Given the description of an element on the screen output the (x, y) to click on. 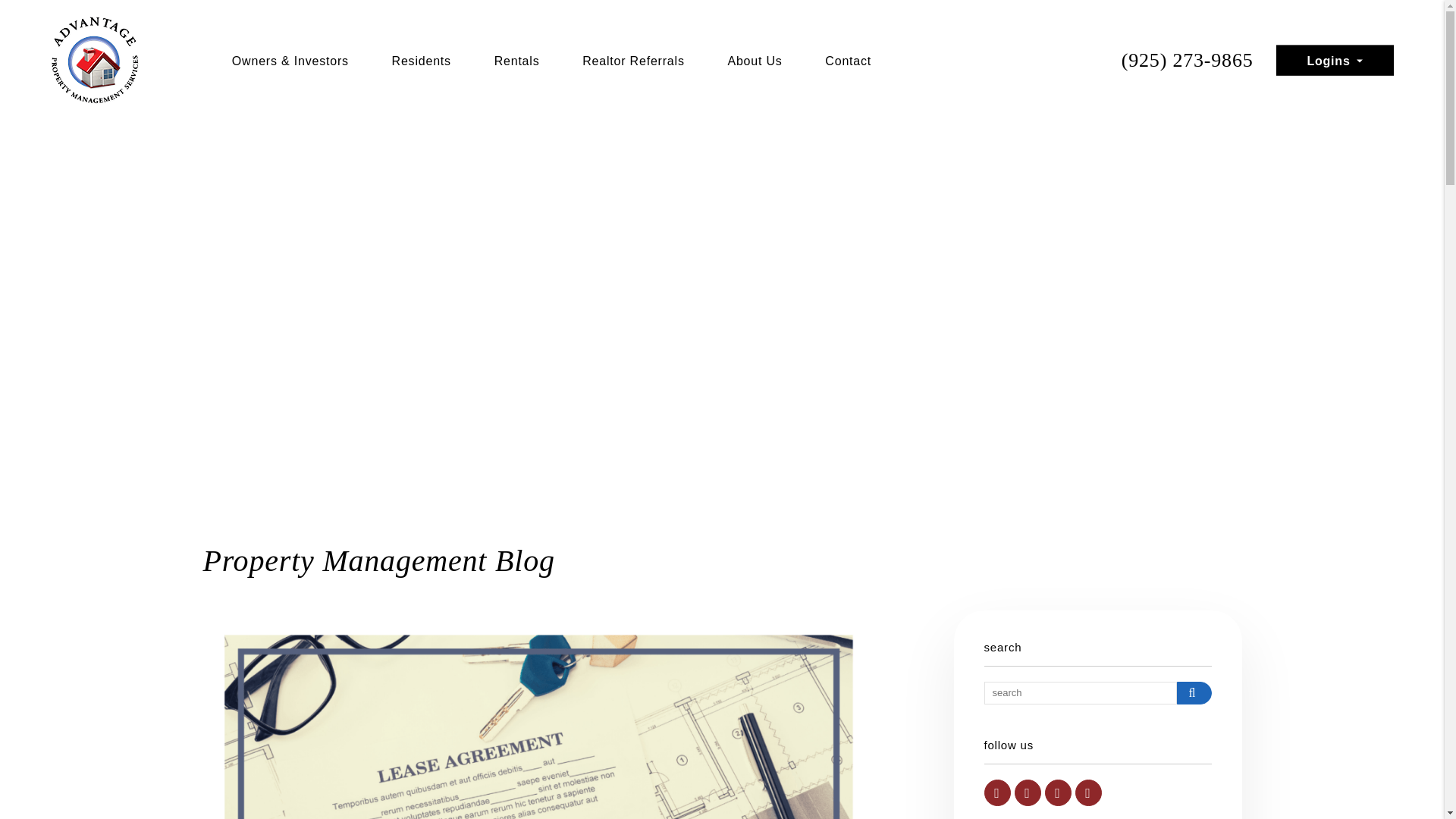
Realtor Referrals (633, 60)
Logins (1334, 60)
About Us (753, 60)
Residents (421, 60)
opens in a new window (997, 792)
Contact (847, 60)
At least 3 characters (1080, 692)
Rentals (517, 60)
